Given the description of an element on the screen output the (x, y) to click on. 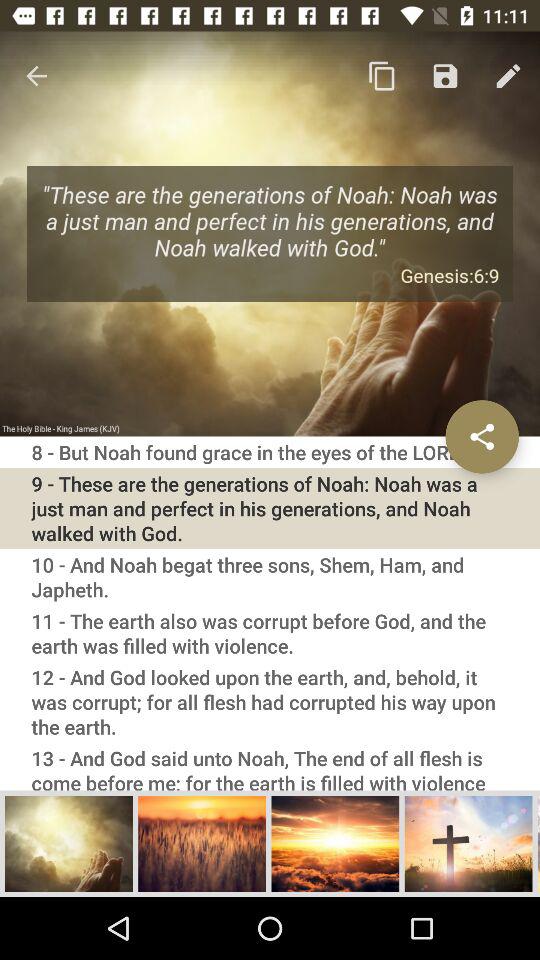
scroll photos (538, 843)
